Given the description of an element on the screen output the (x, y) to click on. 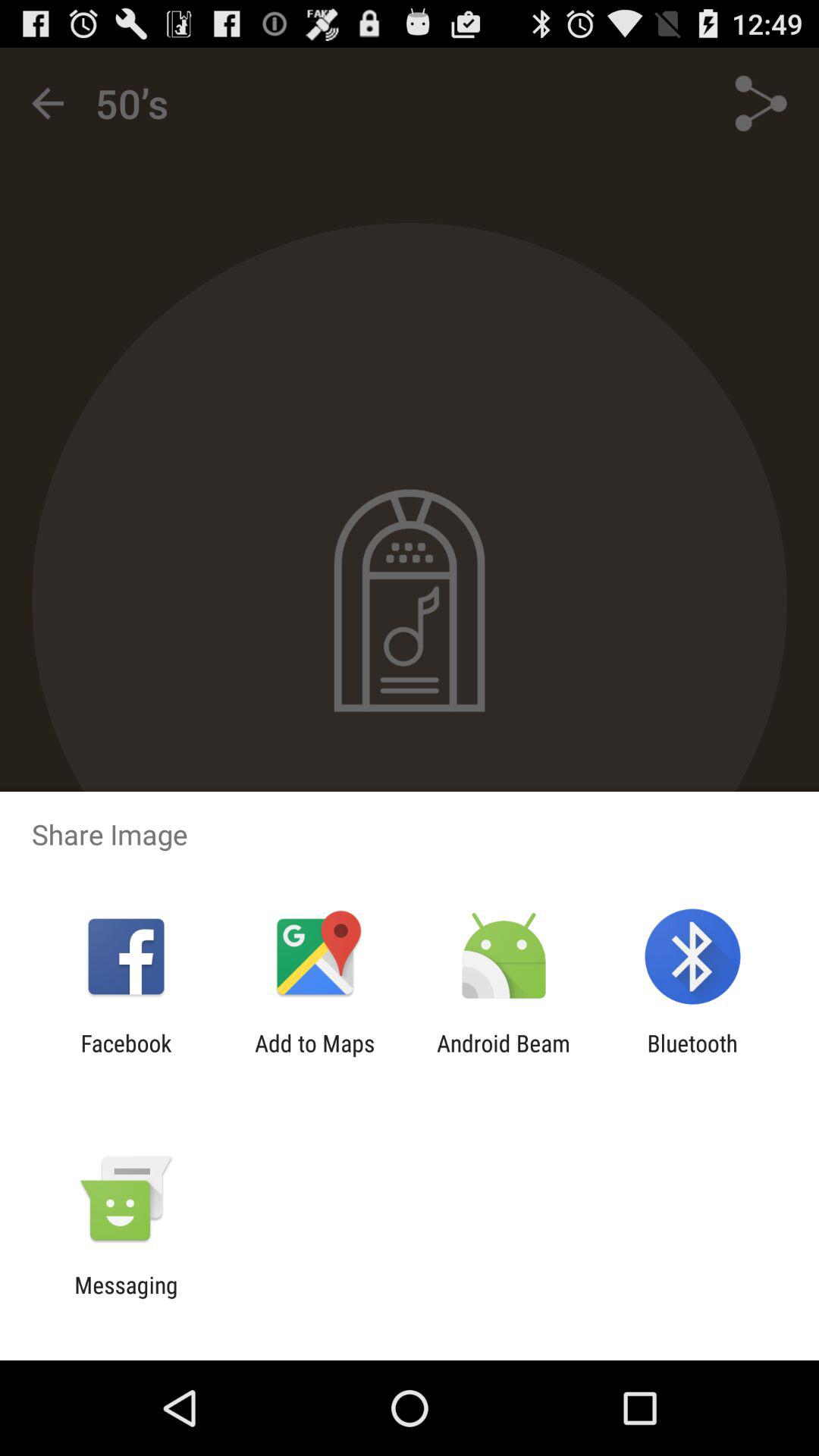
scroll until messaging item (126, 1298)
